Given the description of an element on the screen output the (x, y) to click on. 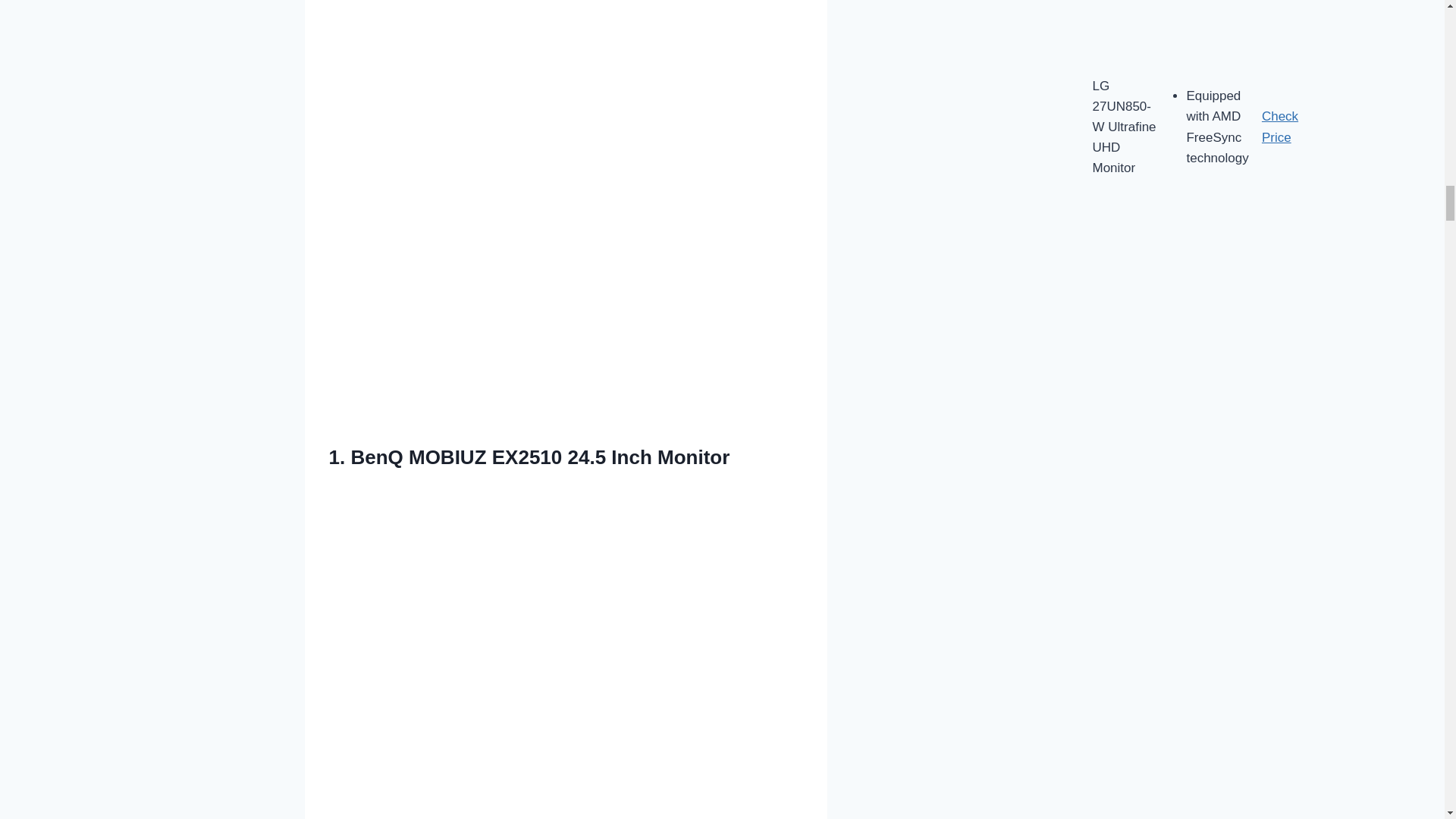
Check Price (1280, 126)
BenQ MOBIUZ EX2510 24.5 Inch Monitor (539, 456)
